Given the description of an element on the screen output the (x, y) to click on. 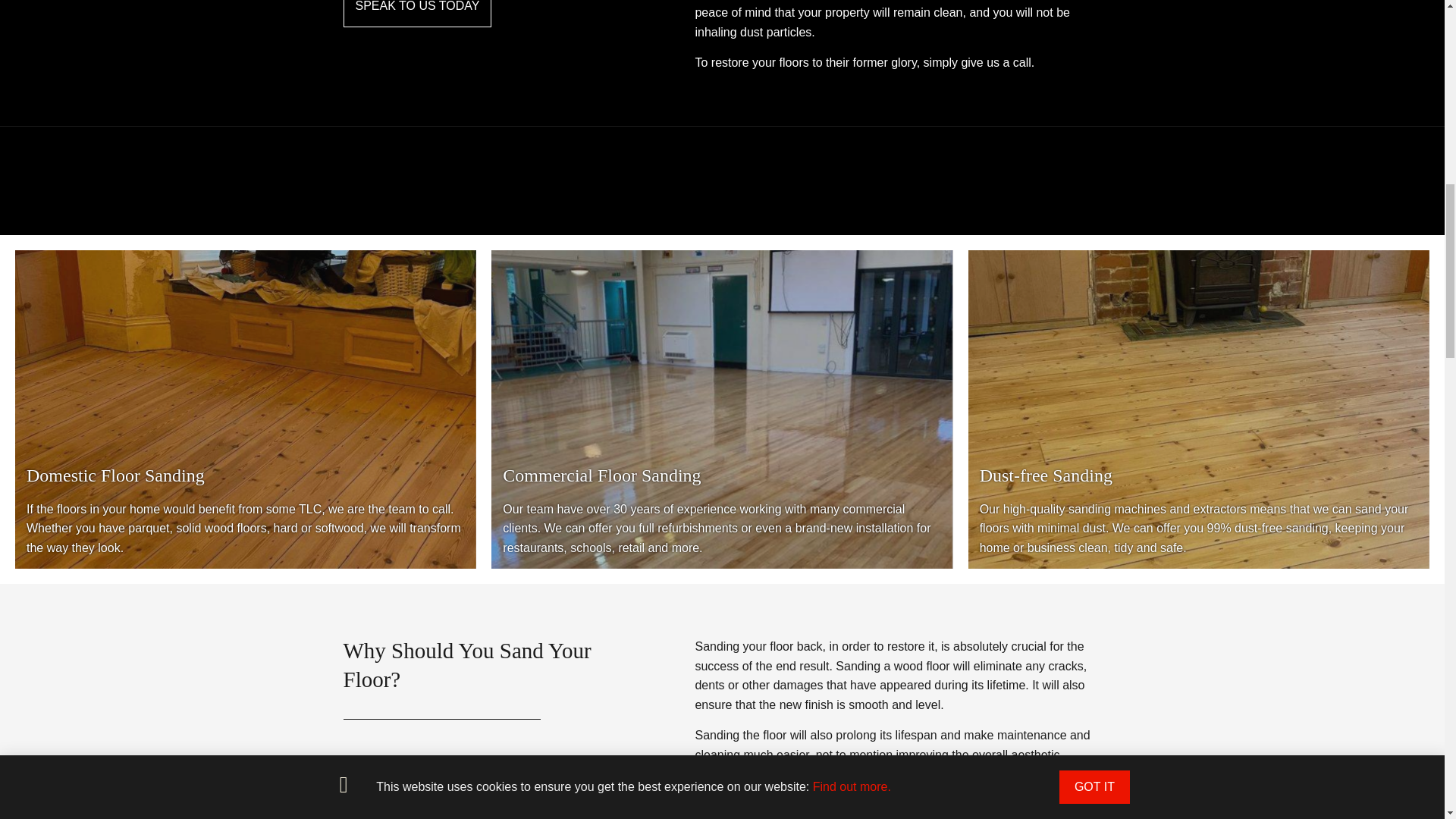
SPEAK TO US TODAY (417, 13)
